Given the description of an element on the screen output the (x, y) to click on. 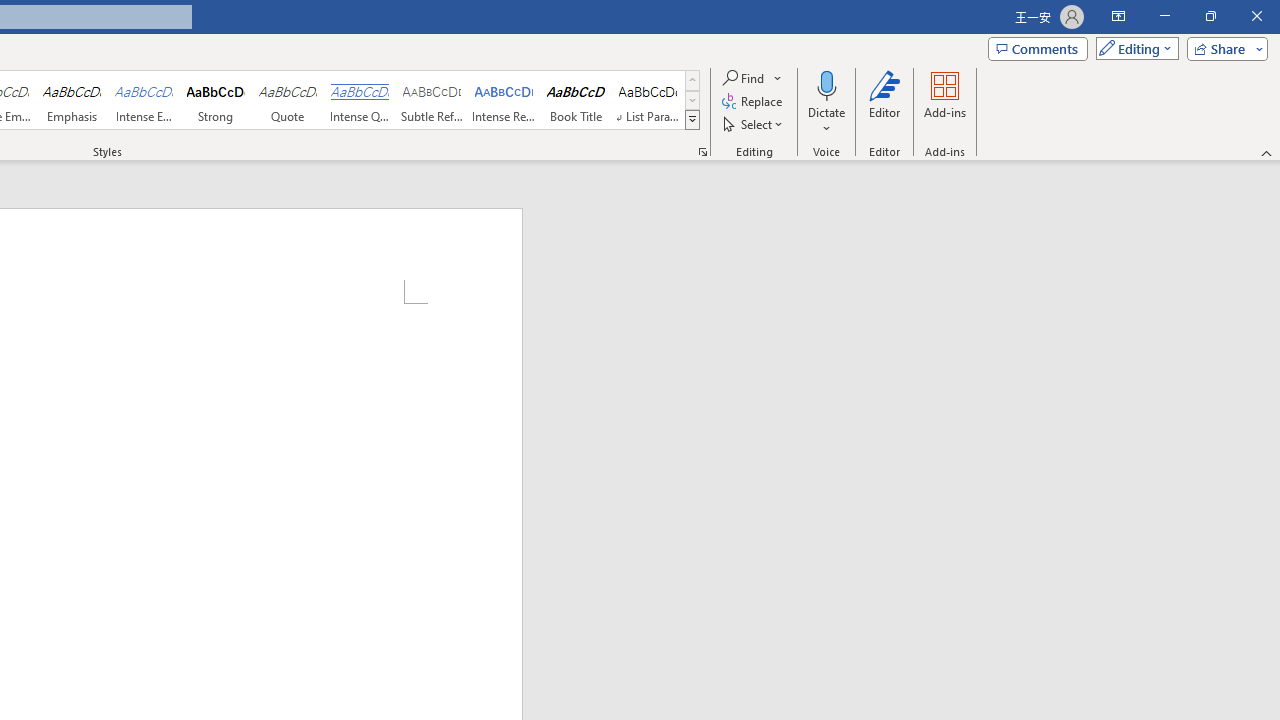
Intense Reference (504, 100)
